Given the description of an element on the screen output the (x, y) to click on. 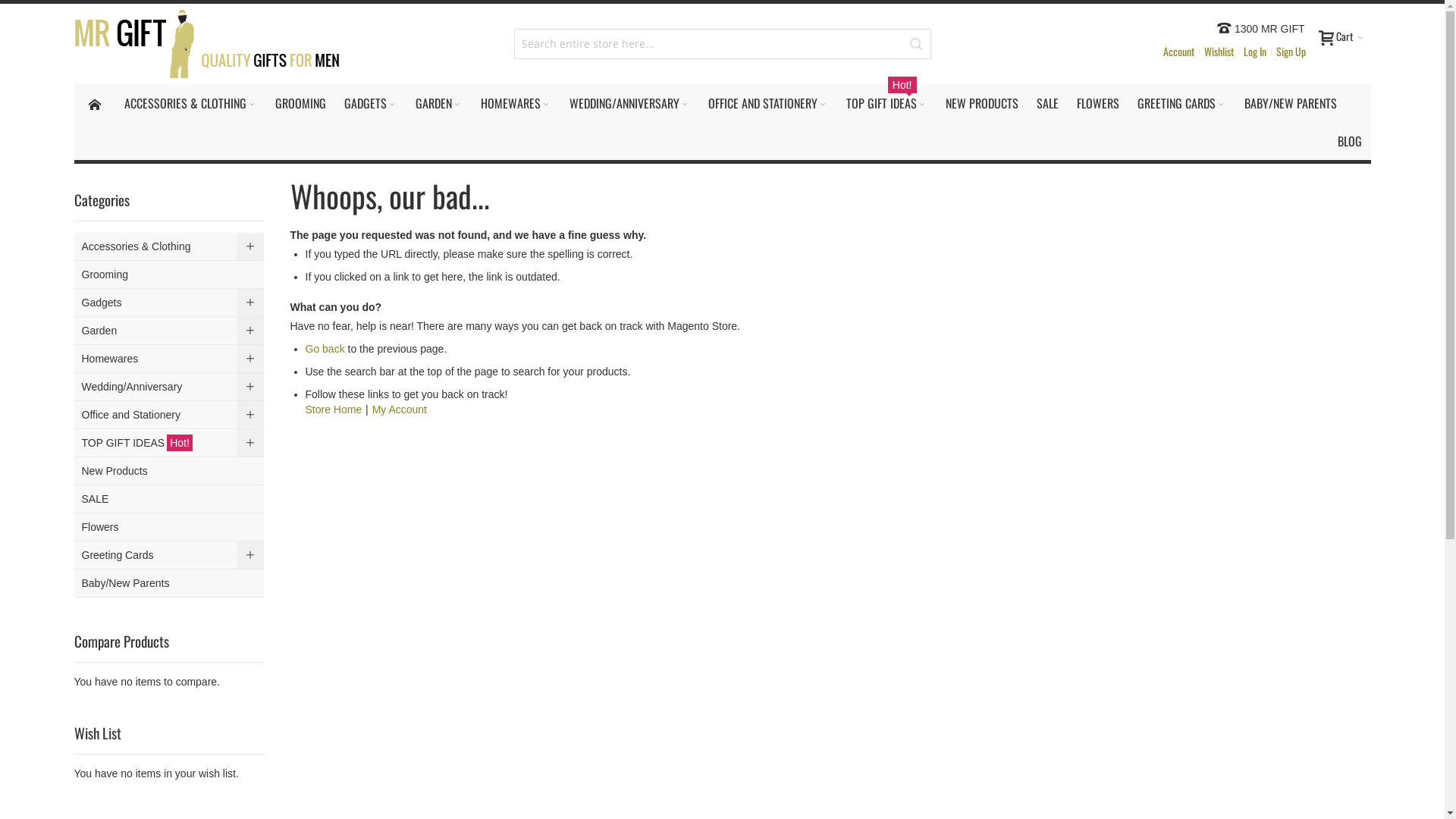
My Account Element type: text (399, 409)
TOP GIFT IDEASHot! Element type: text (169, 443)
Search Element type: hover (914, 43)
Sign Up Element type: text (1290, 51)
SALE Element type: text (1046, 103)
Log In Element type: text (1253, 51)
GROOMING Element type: text (299, 103)
New Products Element type: text (169, 471)
NEW PRODUCTS Element type: text (980, 103)
Mr Gift Element type: hover (206, 43)
Store Home Element type: text (332, 409)
HOMEWARES Element type: text (515, 103)
GARDEN Element type: text (438, 103)
GREETING CARDS Element type: text (1181, 103)
Homewares Element type: text (169, 359)
Wishlist Element type: text (1218, 51)
WEDDING/ANNIVERSARY Element type: text (628, 103)
Grooming Element type: text (169, 274)
Flowers Element type: text (169, 527)
GADGETS Element type: text (370, 103)
Accessories & Clothing Element type: text (169, 246)
Go back Element type: text (324, 348)
BABY/NEW PARENTS Element type: text (1289, 103)
BLOG Element type: text (1349, 141)
OFFICE AND STATIONERY Element type: text (768, 103)
Baby/New Parents Element type: text (169, 583)
Gadgets Element type: text (169, 302)
Wedding/Anniversary Element type: text (169, 387)
Greeting Cards Element type: text (169, 555)
FLOWERS Element type: text (1097, 103)
Account Element type: text (1177, 51)
ACCESSORIES & CLOTHING Element type: text (190, 103)
TOP GIFT IDEAS
Hot! Element type: text (886, 103)
SALE Element type: text (169, 499)
Office and Stationery Element type: text (169, 415)
Garden Element type: text (169, 330)
